Given the description of an element on the screen output the (x, y) to click on. 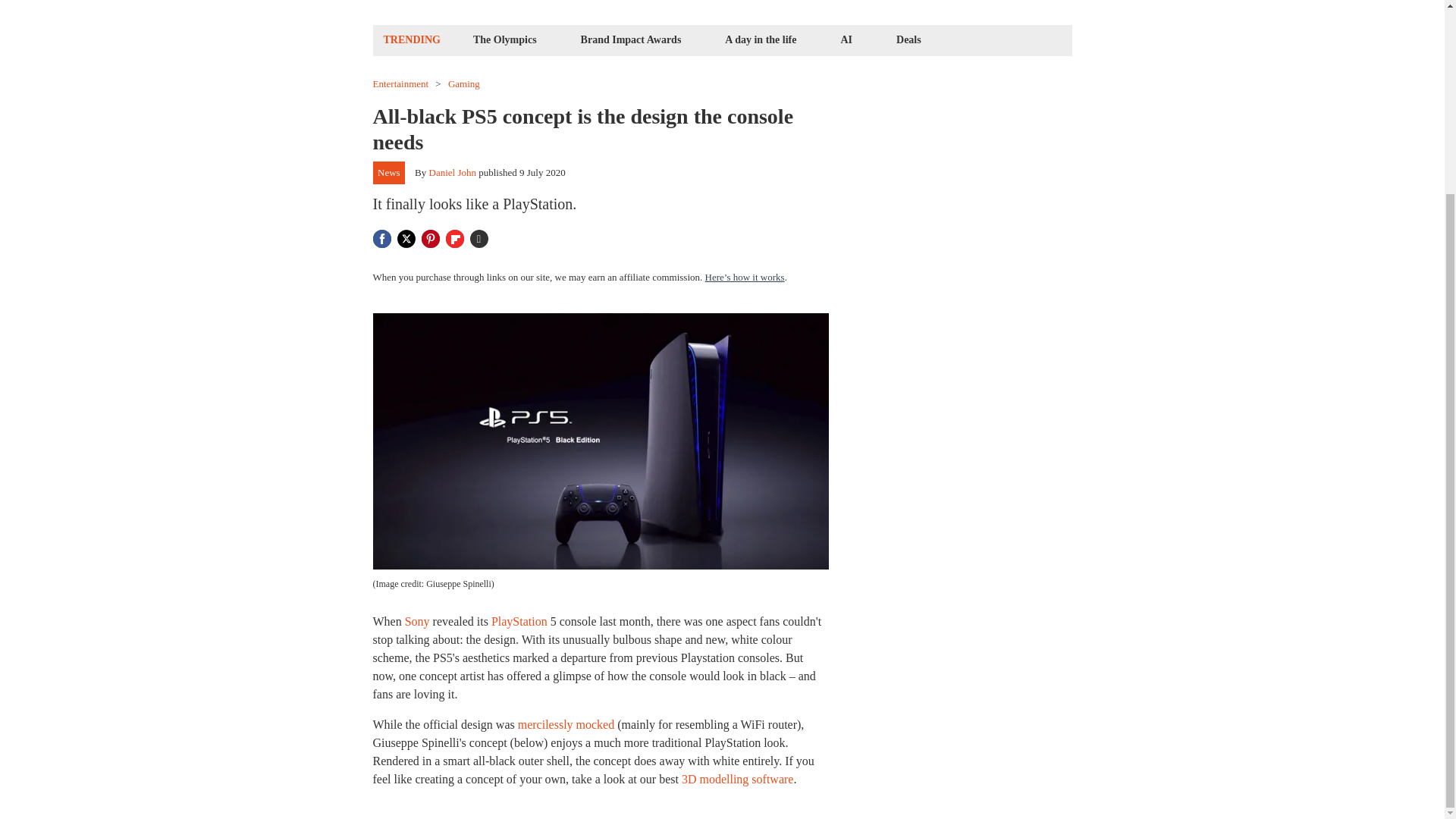
The Olympics (504, 39)
AI (845, 39)
Entertainment (400, 83)
A day in the life (760, 39)
Brand Impact Awards (631, 39)
Gaming (464, 83)
News (389, 172)
Deals (908, 39)
Daniel John (452, 172)
